Given the description of an element on the screen output the (x, y) to click on. 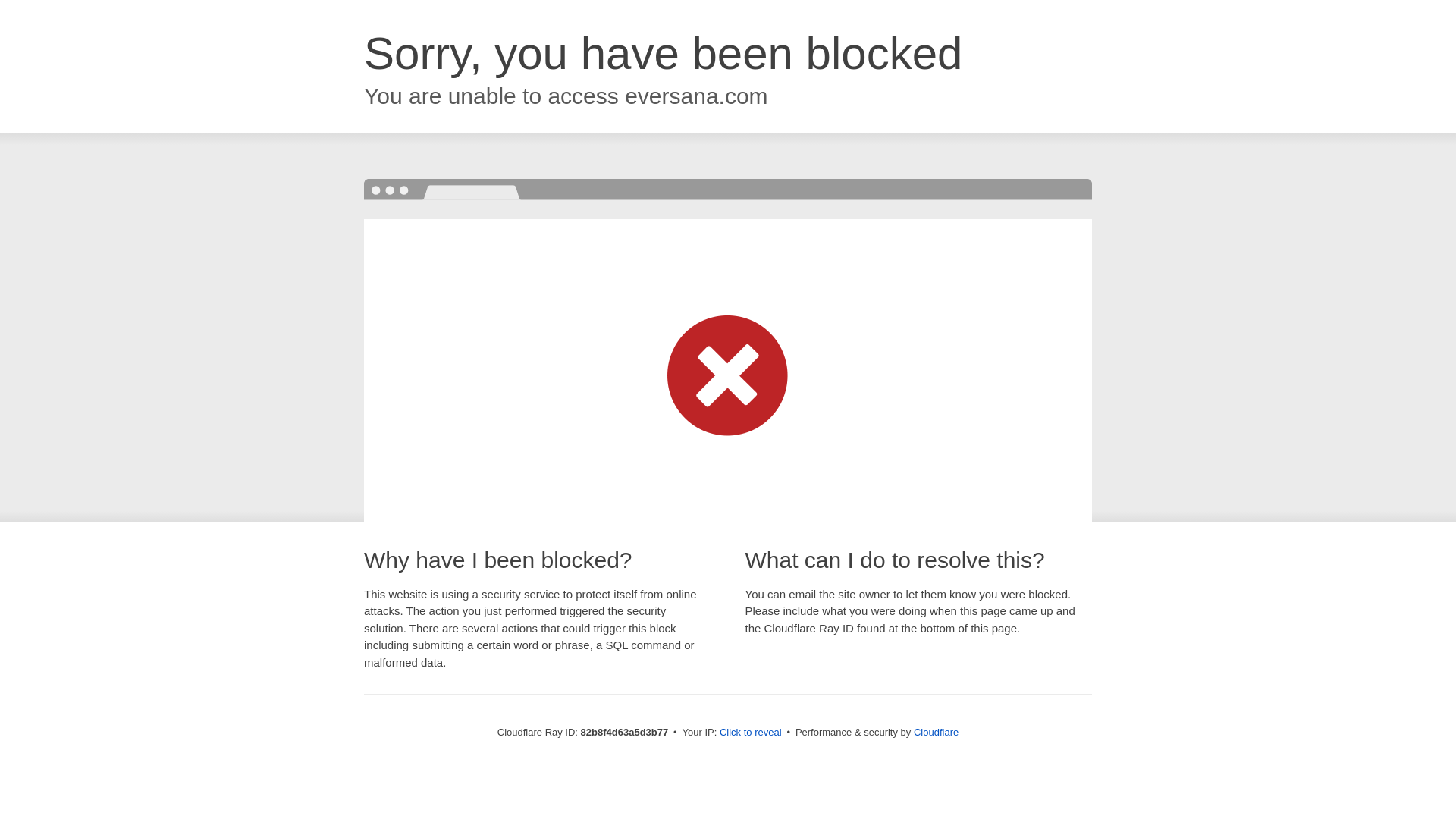
Cloudflare Element type: text (935, 731)
Click to reveal Element type: text (750, 732)
